Given the description of an element on the screen output the (x, y) to click on. 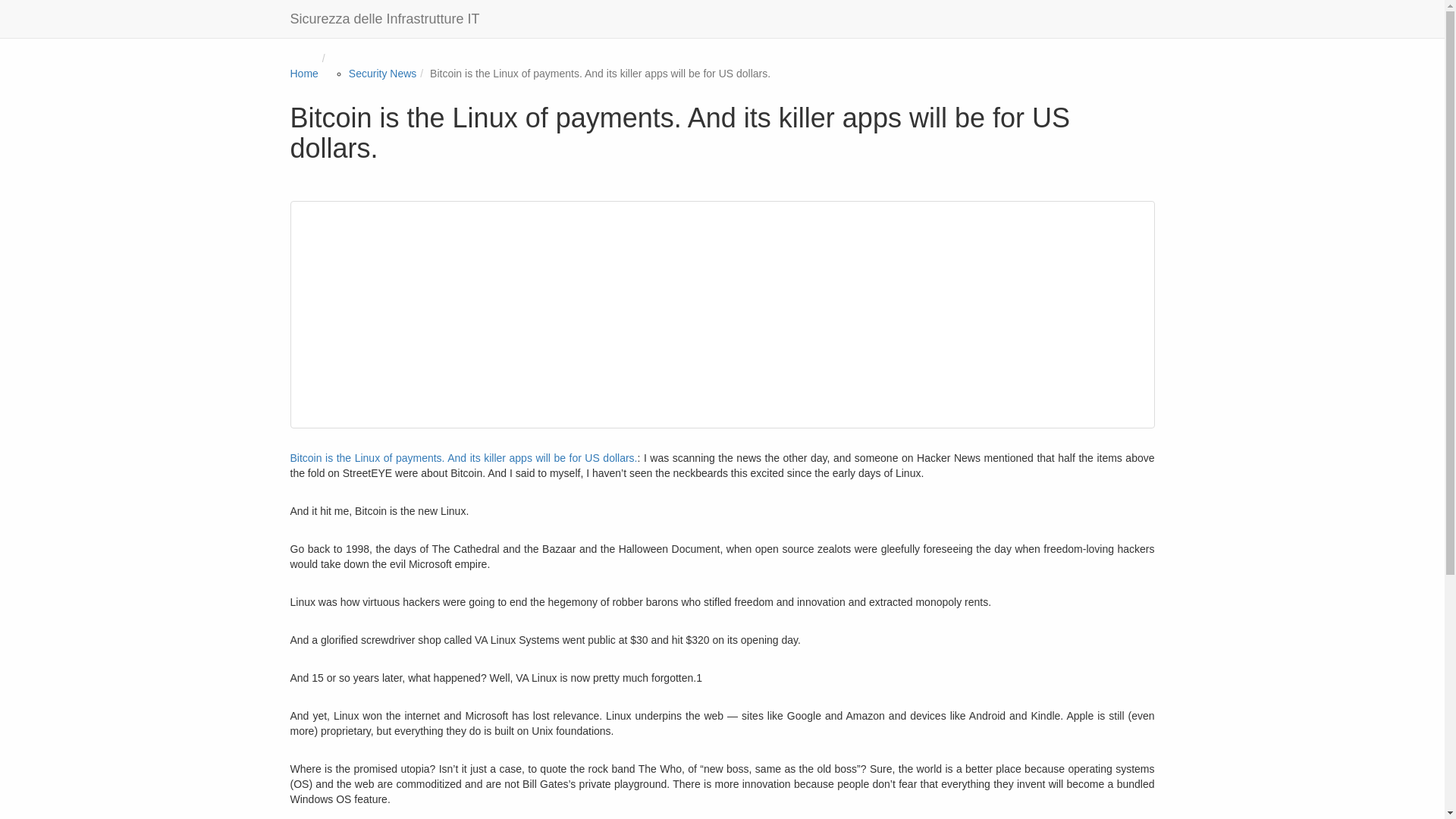
Home (303, 73)
Security News (382, 73)
Sicurezza delle Infrastrutture IT (385, 18)
Sicurezza delle Infrastrutture IT (385, 18)
